Given the description of an element on the screen output the (x, y) to click on. 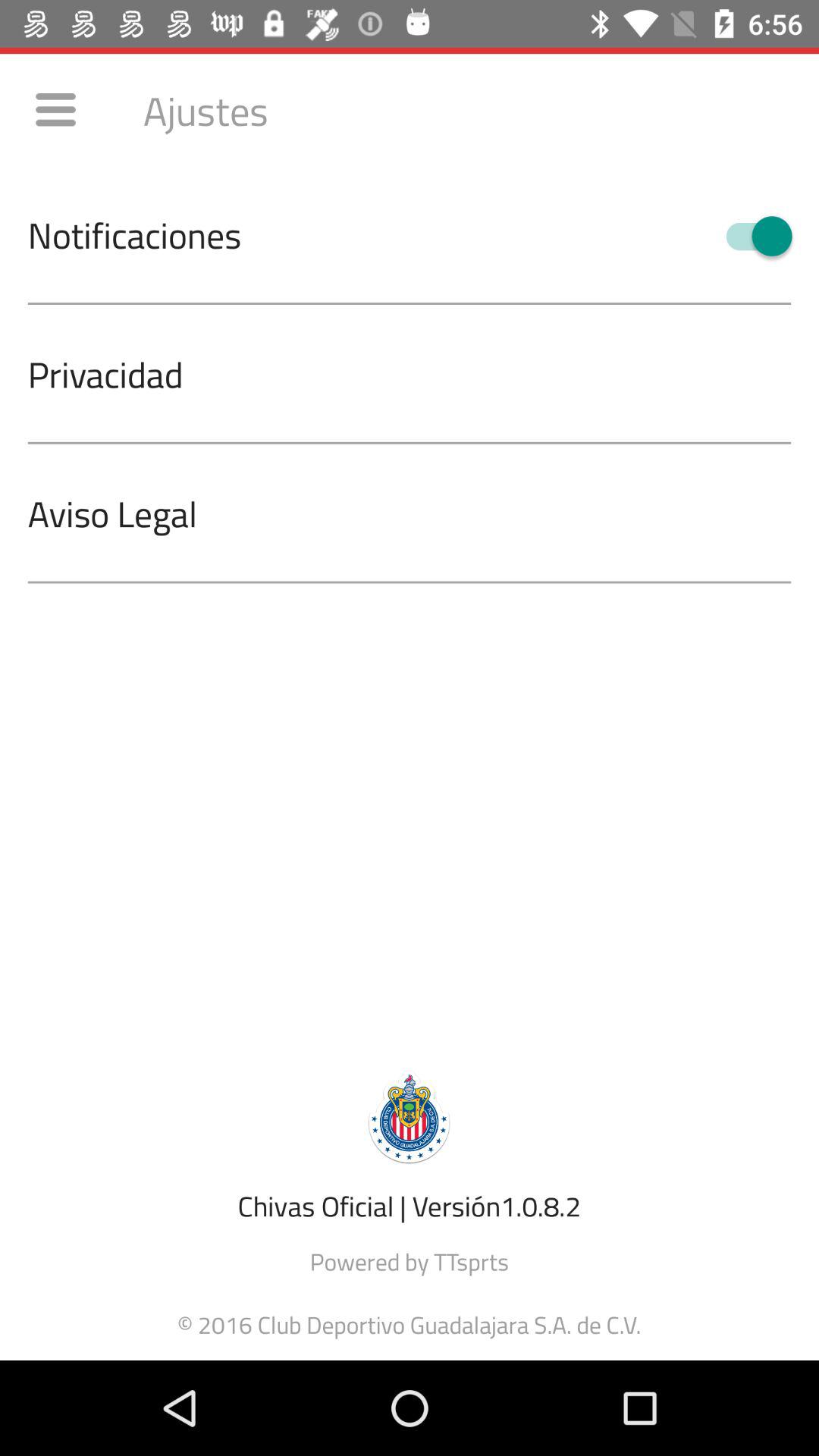
choose icon above the notificaciones item (55, 109)
